Given the description of an element on the screen output the (x, y) to click on. 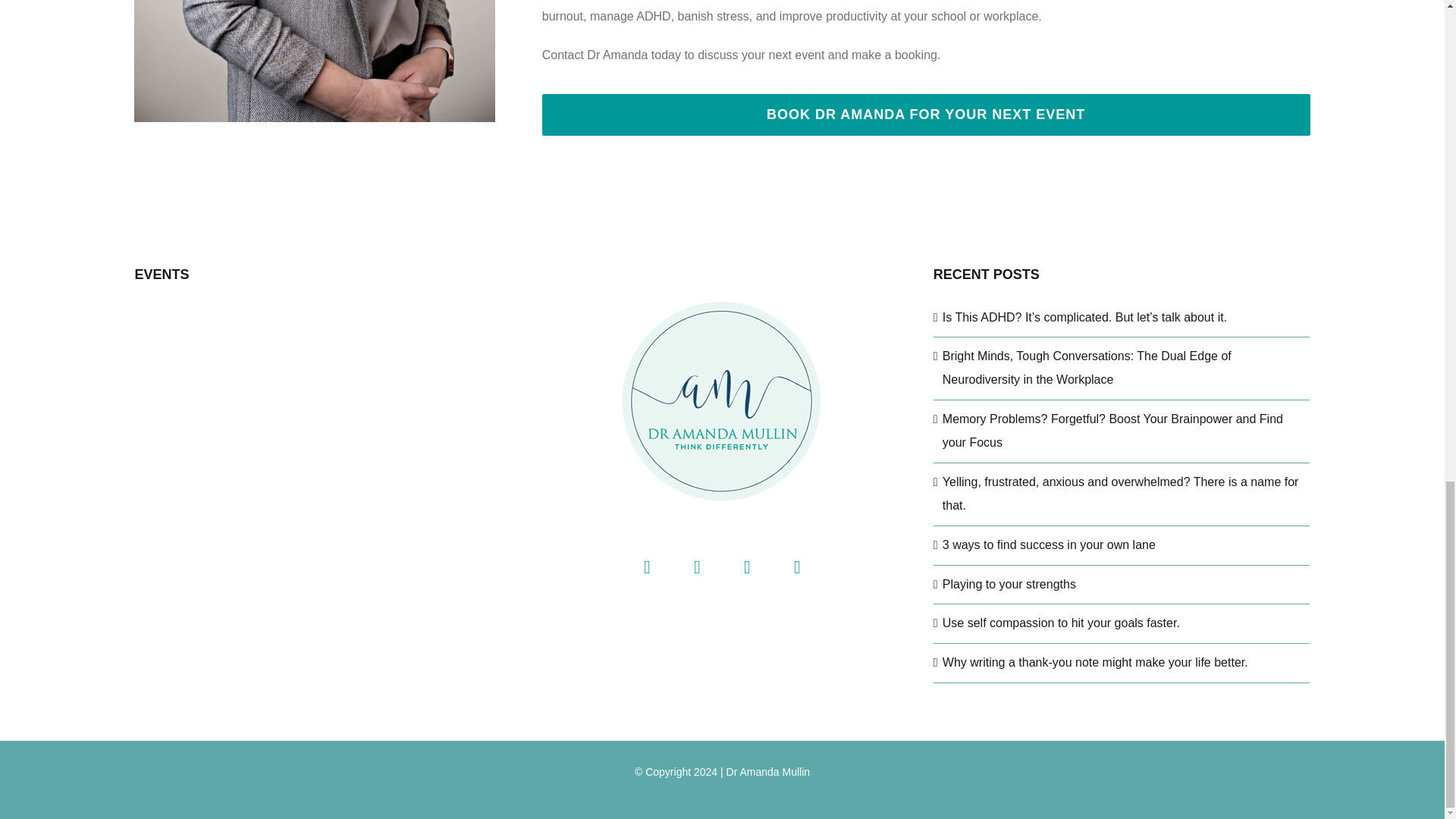
Dr Amanda Mullin Psychologist (314, 60)
Why writing a thank-you note might make your life better. (1122, 662)
Facebook (647, 566)
Use self compassion to hit your goals faster. (1122, 623)
3 ways to find success in your own lane (1122, 545)
X (696, 566)
BOOK DR AMANDA FOR YOUR NEXT EVENT (925, 114)
